Given the description of an element on the screen output the (x, y) to click on. 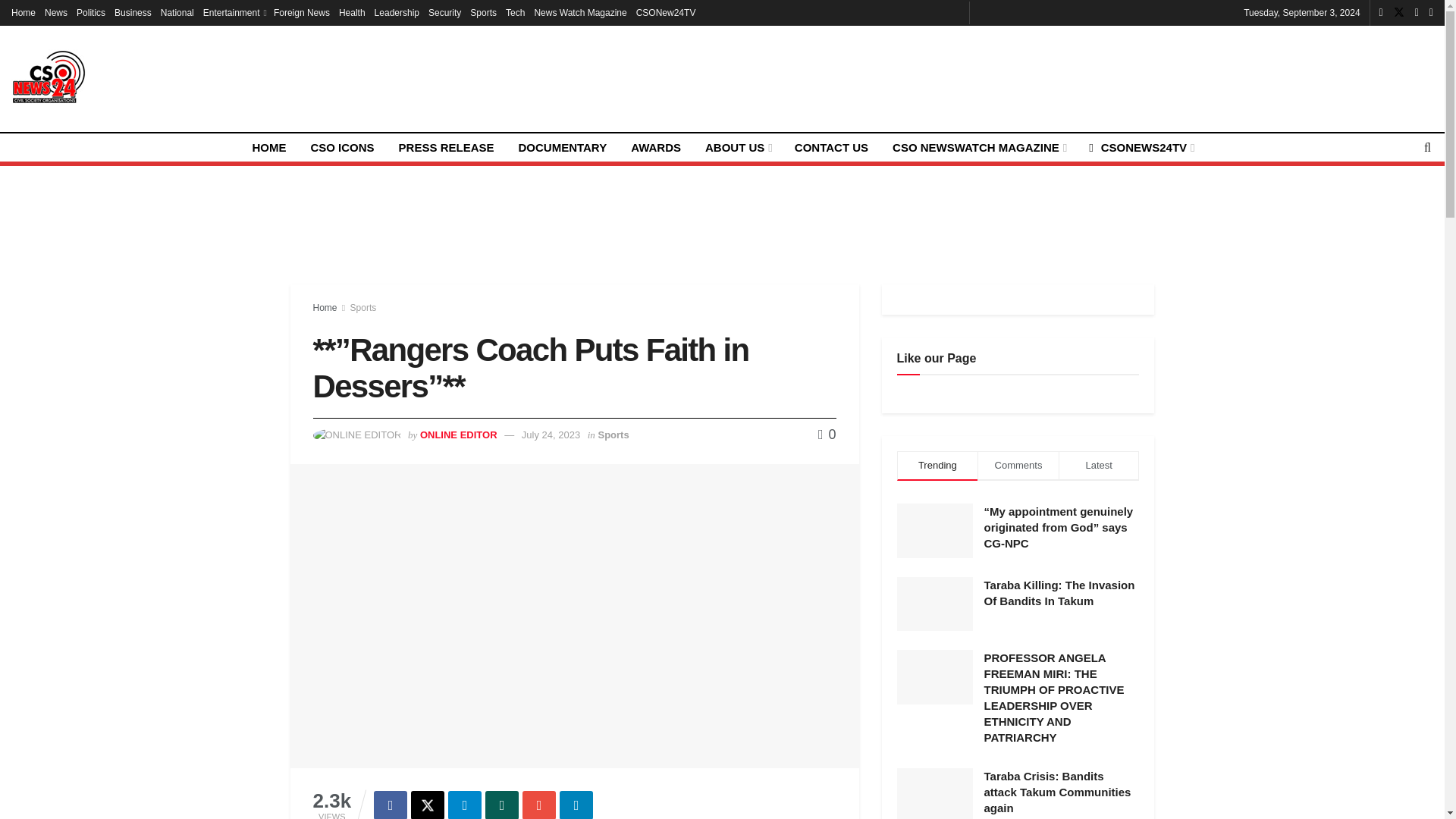
CSO ICONS (341, 147)
HOME (269, 147)
CSONew24TV (665, 12)
ABOUT US (738, 147)
Security (444, 12)
CSO NEWSWATCH MAGAZINE (978, 147)
Business (133, 12)
Home (22, 12)
PRESS RELEASE (446, 147)
Entertainment (233, 12)
